Given the description of an element on the screen output the (x, y) to click on. 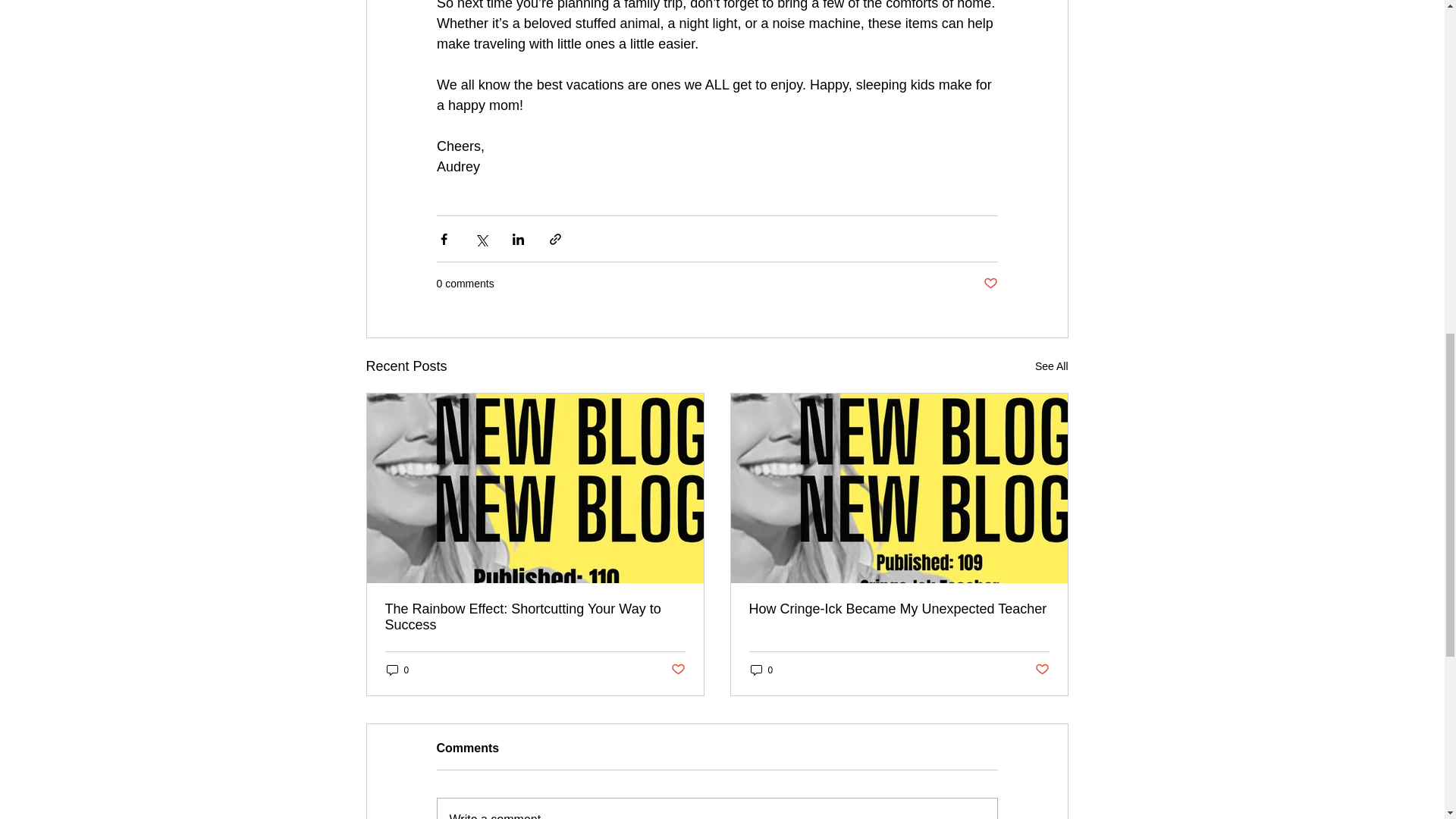
Post not marked as liked (1040, 669)
How Cringe-Ick Became My Unexpected Teacher (899, 609)
0 (397, 669)
Post not marked as liked (989, 283)
The Rainbow Effect: Shortcutting Your Way to Success (535, 617)
See All (1051, 366)
0 (761, 669)
Post not marked as liked (676, 669)
